Given the description of an element on the screen output the (x, y) to click on. 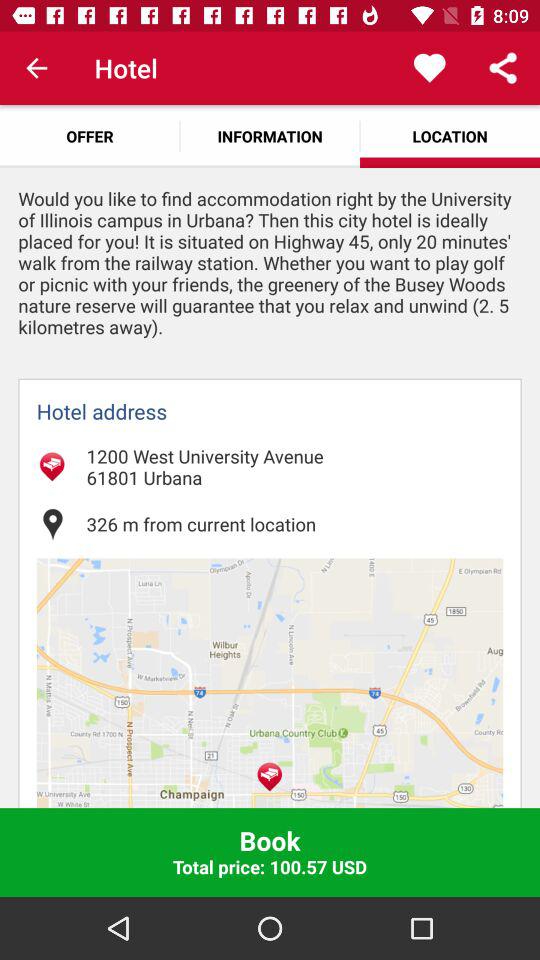
press the app above location app (429, 67)
